Given the description of an element on the screen output the (x, y) to click on. 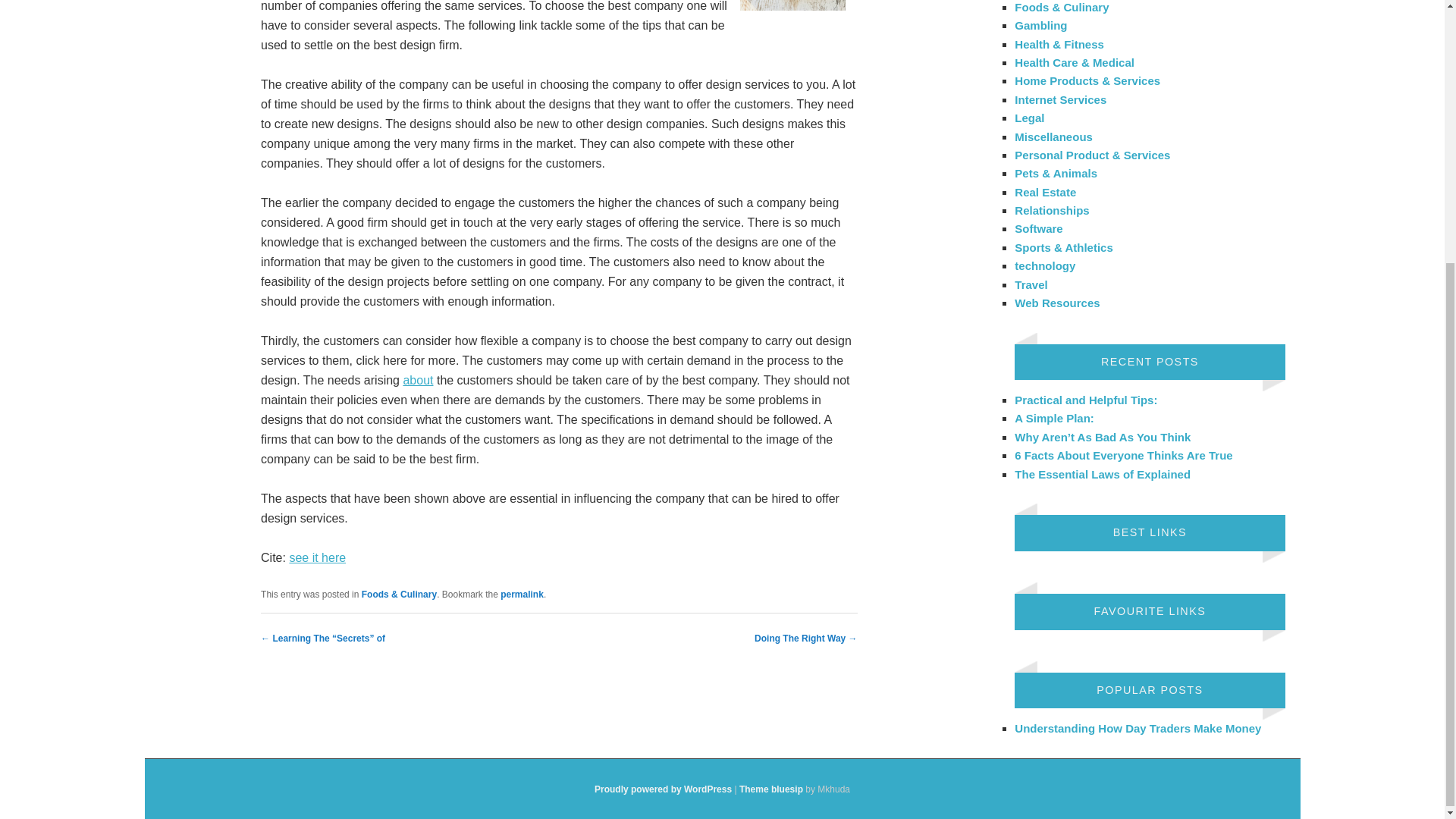
Internet Services (1060, 99)
Permalink to 5 Key Takeaways on the Road to Dominating (521, 593)
Gambling (1040, 24)
Mkhuda (771, 788)
permalink (521, 593)
Travel (1030, 283)
Relationships (1051, 210)
see it here (317, 557)
Web Resources (1056, 302)
Legal (1028, 117)
A Semantic Personal Publishing Platform (663, 788)
Understanding How Day Traders Make Money (1137, 727)
Practical and Helpful Tips: (1085, 399)
about (417, 379)
Miscellaneous (1053, 136)
